Given the description of an element on the screen output the (x, y) to click on. 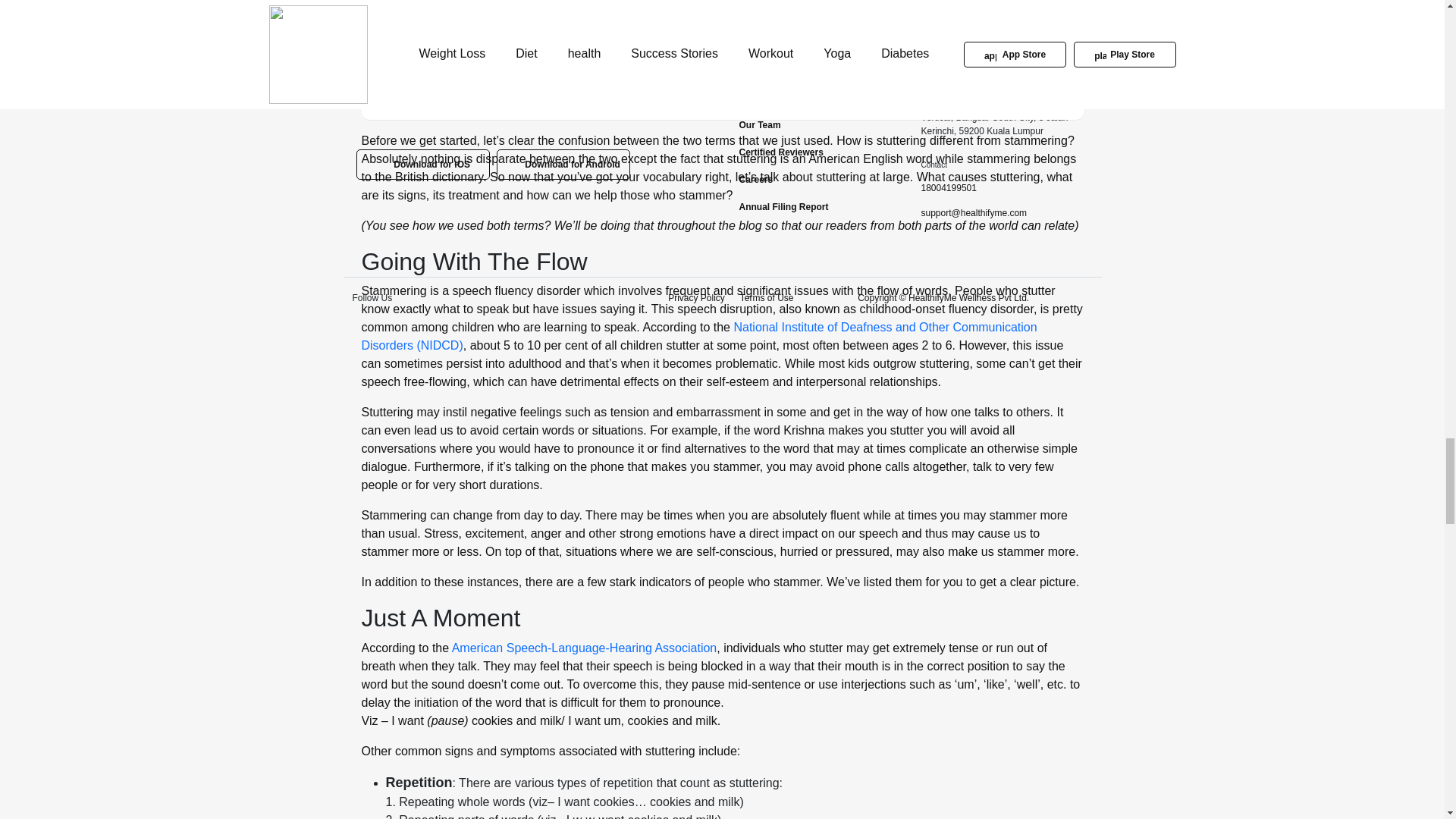
American Speech-Language-Hearing Association (584, 647)
Download for Android (563, 164)
Download for iOS (422, 163)
Download for iOS (422, 164)
